Given the description of an element on the screen output the (x, y) to click on. 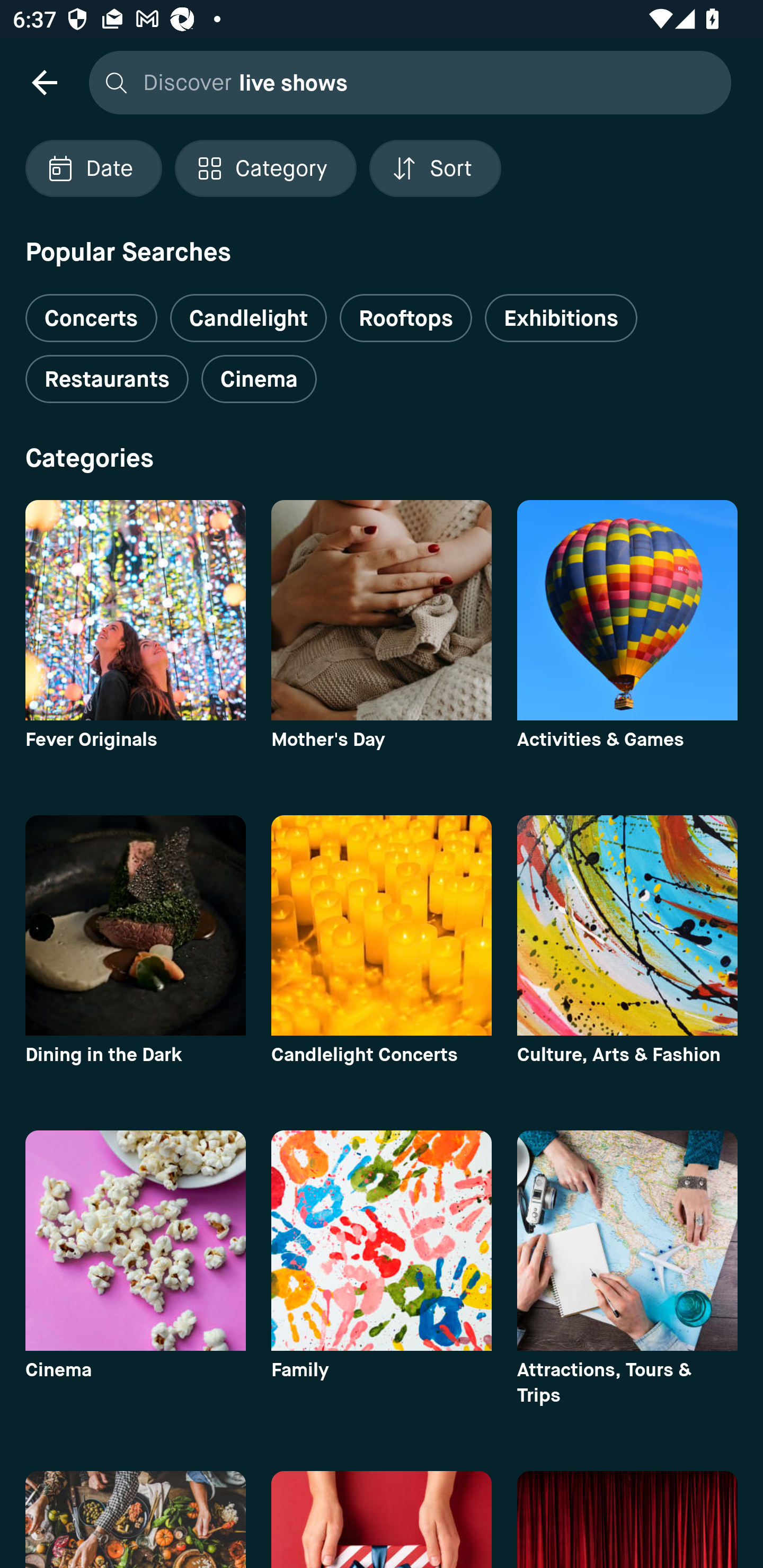
navigation icon (44, 81)
Discover live shows (405, 81)
Localized description Date (93, 168)
Localized description Category (265, 168)
Localized description Sort (435, 168)
Concerts (91, 310)
Candlelight (248, 317)
Rooftops (405, 317)
Exhibitions (560, 317)
Restaurants (106, 379)
Cinema (258, 379)
category image (135, 609)
category image (381, 609)
category image (627, 609)
category image (135, 924)
category image (381, 924)
category image (627, 924)
category image (135, 1240)
category image (381, 1240)
category image (627, 1240)
